Given the description of an element on the screen output the (x, y) to click on. 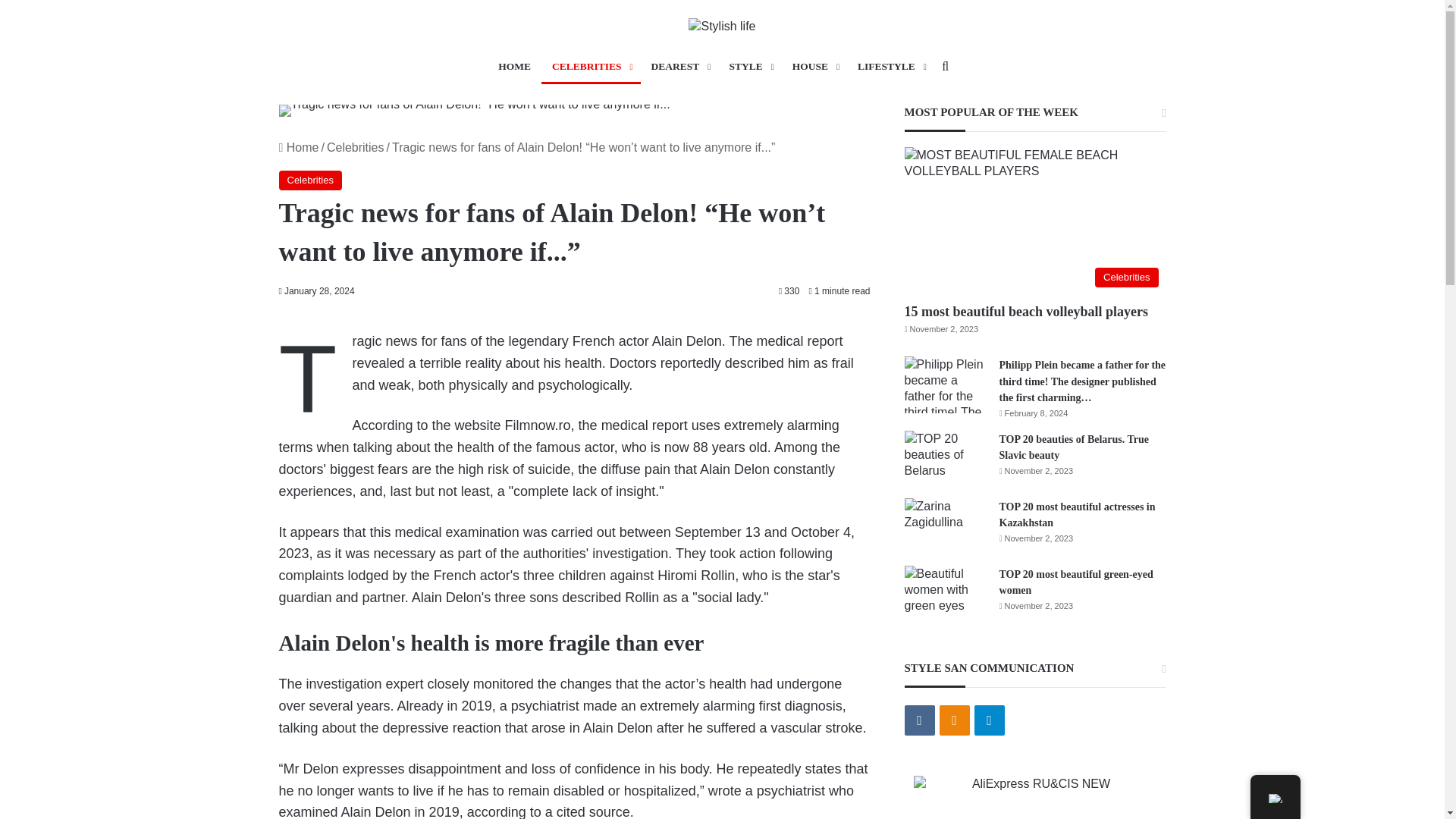
Home (298, 146)
Stylish life (721, 25)
Celebrities (355, 146)
CELEBRITIES (590, 66)
DEAREST (679, 66)
LIFESTYLE (890, 66)
STYLE (748, 66)
HOUSE (814, 66)
Celebrities (310, 180)
HOME (514, 66)
Stylish life (721, 26)
